Given the description of an element on the screen output the (x, y) to click on. 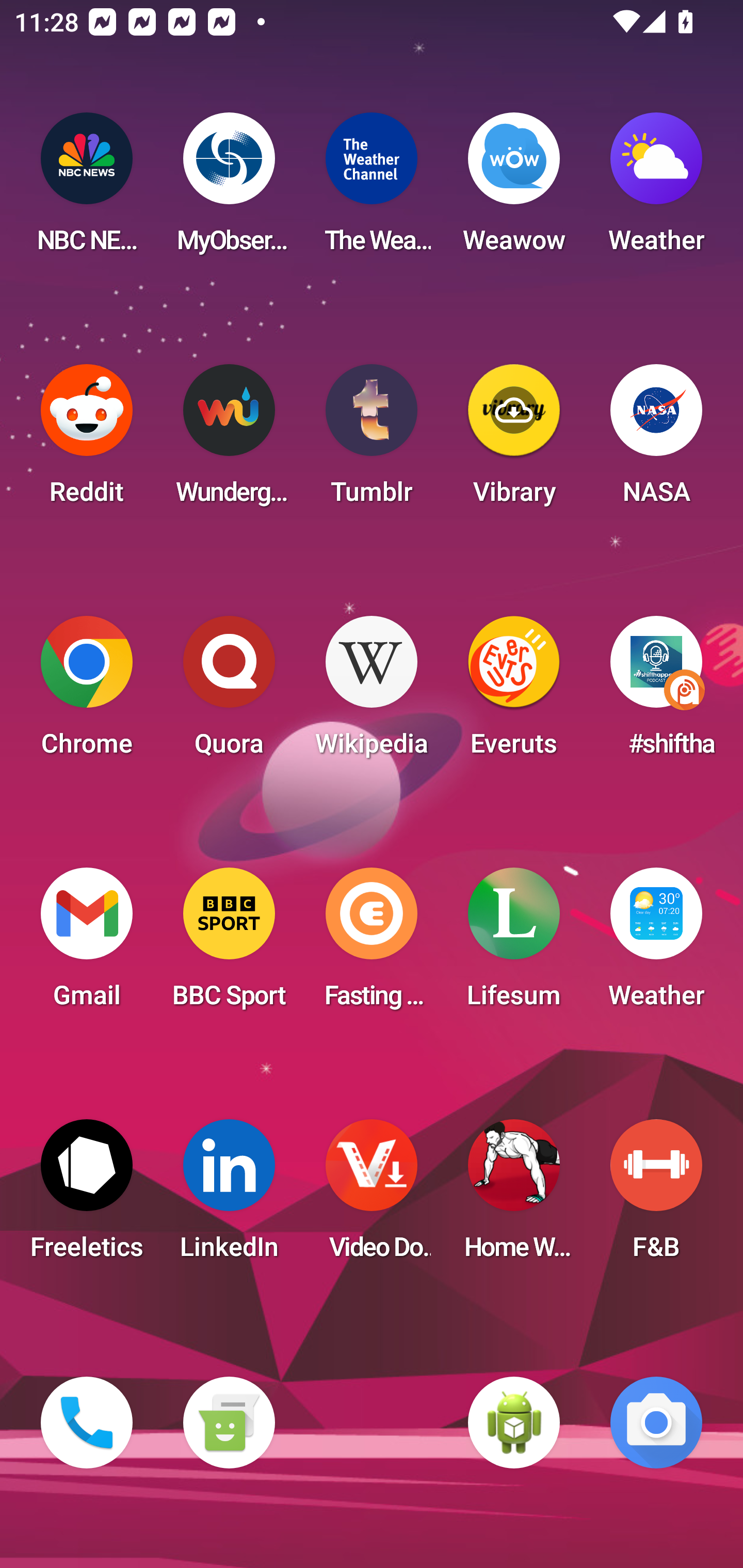
NBC NEWS (86, 188)
MyObservatory (228, 188)
The Weather Channel (371, 188)
Weawow (513, 188)
Weather (656, 188)
Reddit (86, 440)
Wunderground (228, 440)
Tumblr (371, 440)
Vibrary (513, 440)
NASA (656, 440)
Chrome (86, 692)
Quora (228, 692)
Wikipedia (371, 692)
Everuts (513, 692)
#shifthappens in the Digital Workplace Podcast (656, 692)
Gmail (86, 943)
BBC Sport (228, 943)
Fasting Coach (371, 943)
Lifesum (513, 943)
Weather (656, 943)
Freeletics (86, 1195)
LinkedIn (228, 1195)
Video Downloader & Ace Player (371, 1195)
Home Workout (513, 1195)
F&B (656, 1195)
Phone (86, 1422)
Messaging (228, 1422)
WebView Browser Tester (513, 1422)
Camera (656, 1422)
